Given the description of an element on the screen output the (x, y) to click on. 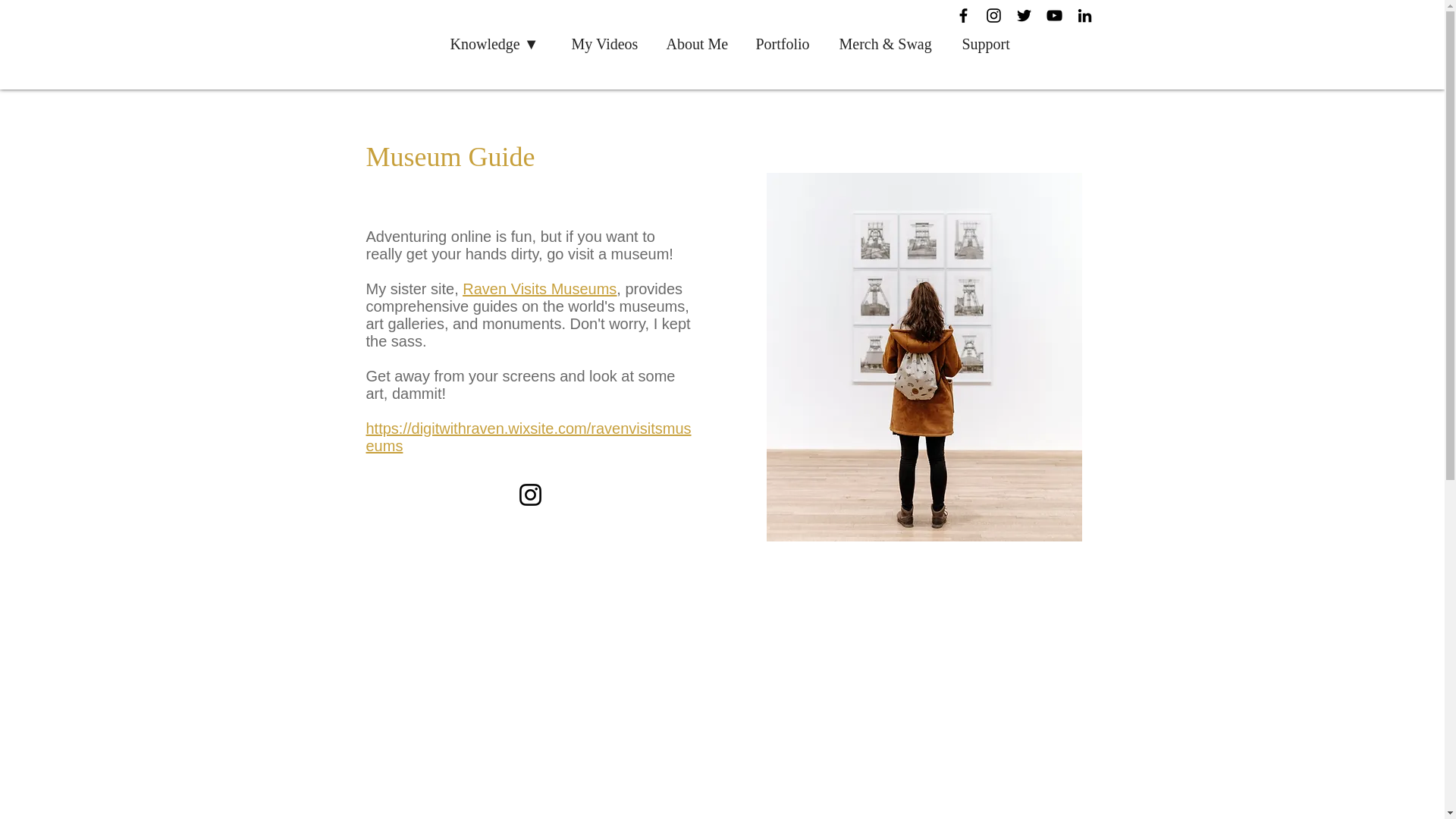
My Videos (608, 44)
Portfolio (786, 44)
Support (989, 44)
About Me (699, 44)
Raven Visits Museums (539, 288)
